Given the description of an element on the screen output the (x, y) to click on. 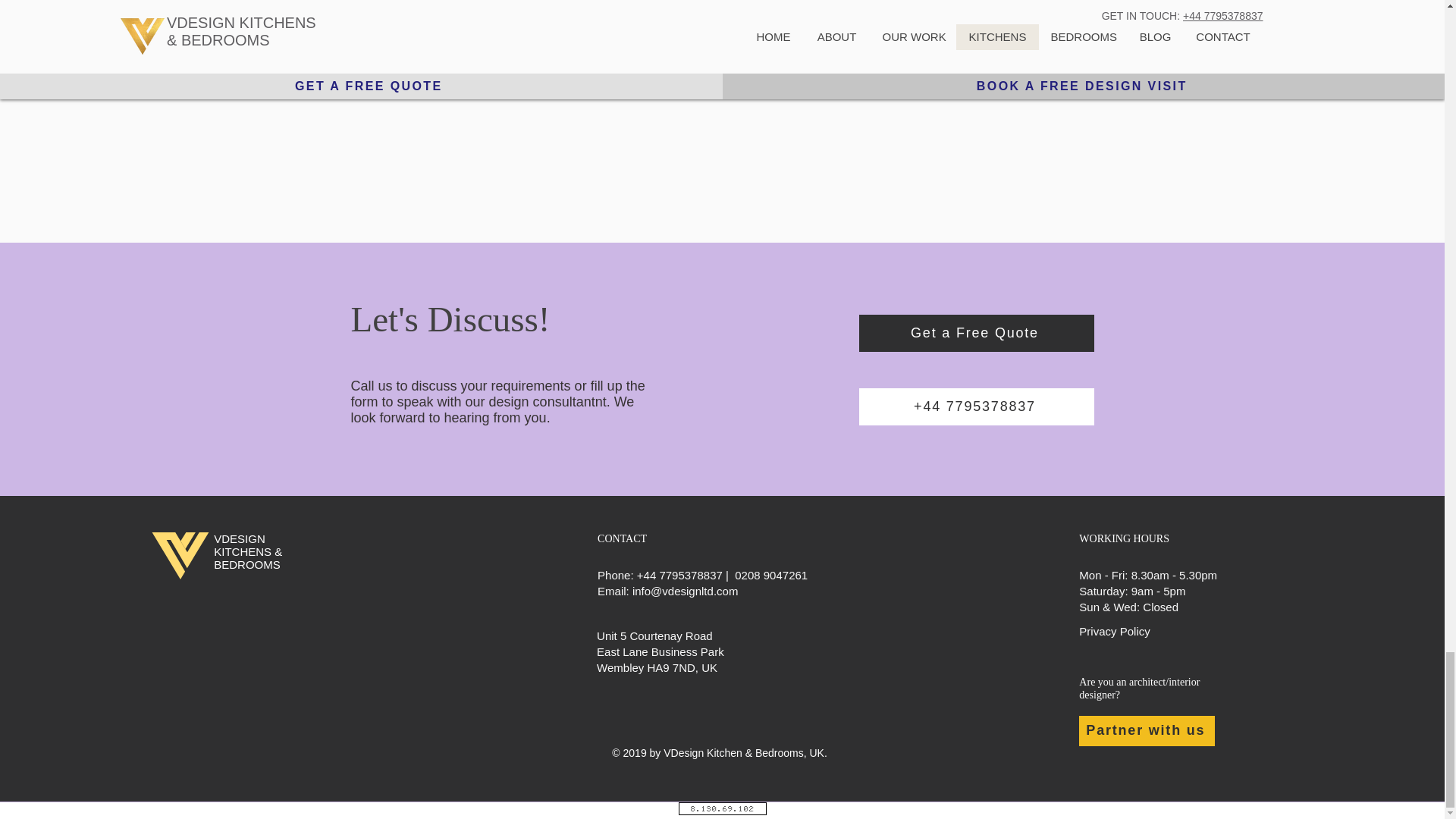
Get a Free Quote (976, 333)
VDESIGN (239, 538)
